Given the description of an element on the screen output the (x, y) to click on. 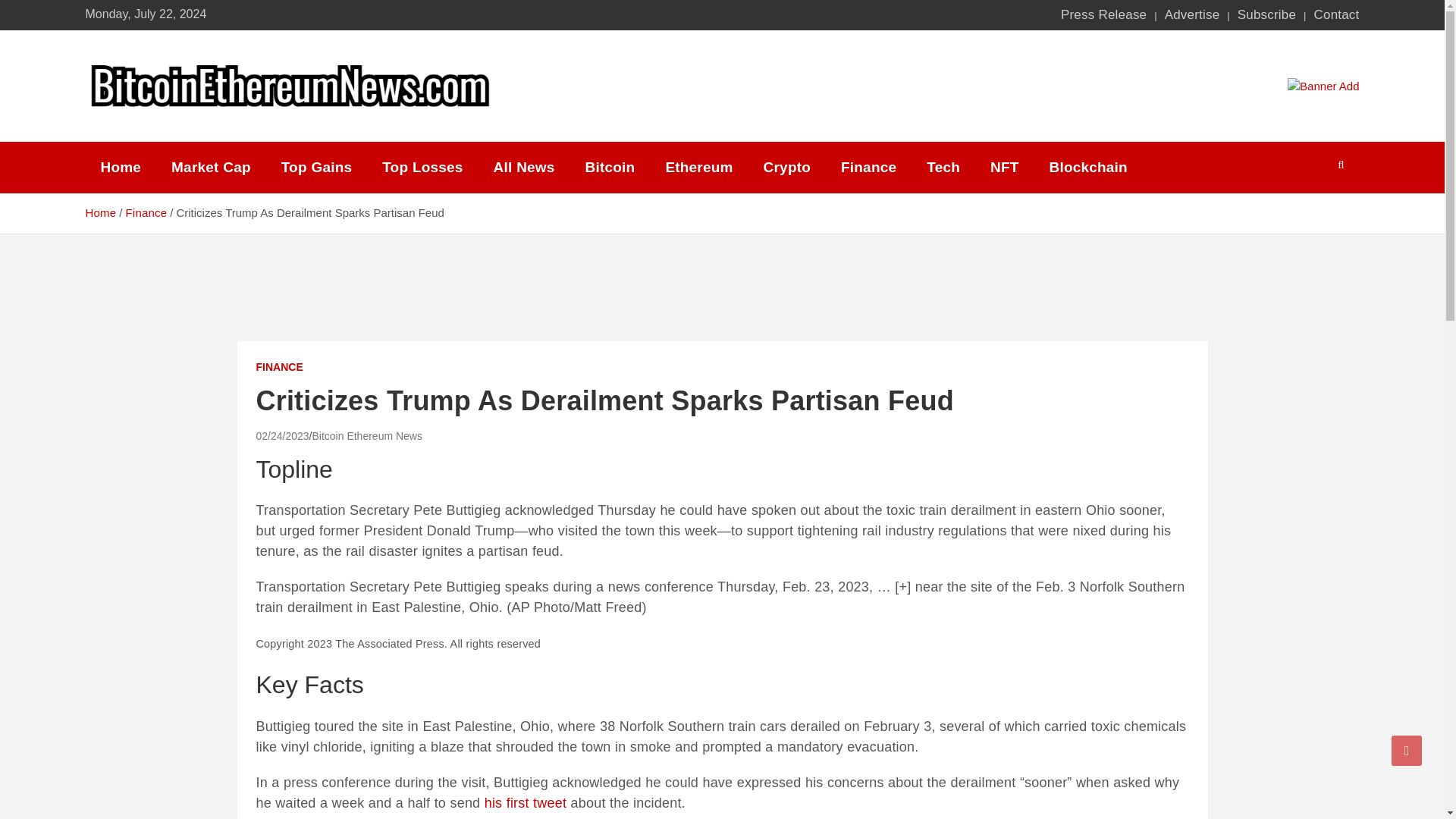
Market Cap (210, 167)
Blockchain (1087, 167)
Finance News Articles (868, 167)
Finance (868, 167)
Press Release (1104, 14)
All News Articles (524, 167)
Bitcoin Ethereum News (366, 435)
Home (119, 167)
All News (524, 167)
Crypto News Articles (786, 167)
NFT News Articles (1004, 167)
Homepage (119, 167)
Home (100, 212)
Finance (146, 212)
